Given the description of an element on the screen output the (x, y) to click on. 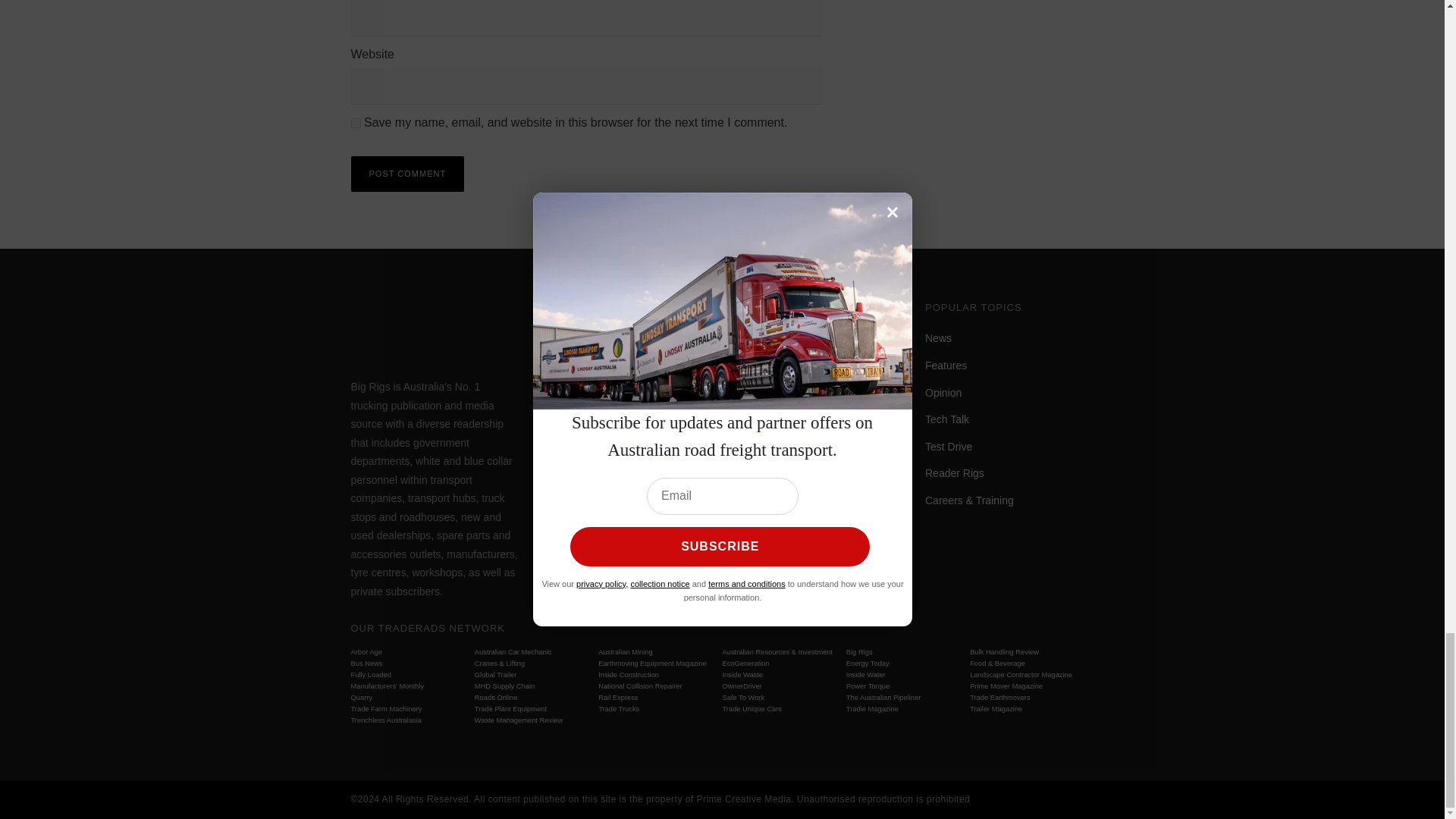
yes (354, 122)
Post Comment (407, 173)
